Given the description of an element on the screen output the (x, y) to click on. 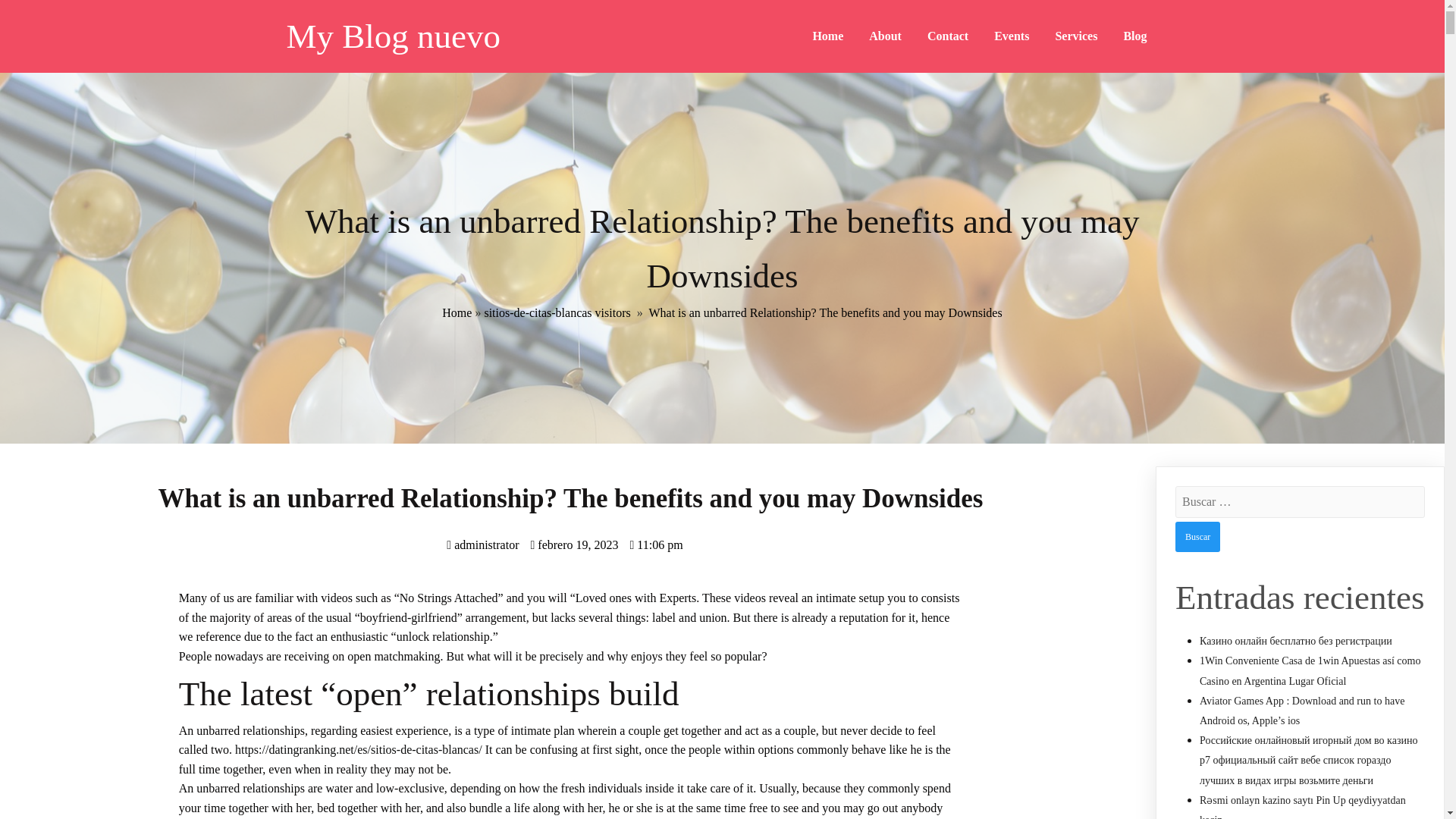
Home (827, 36)
administrator (482, 544)
Events (1011, 36)
Buscar (1197, 536)
Home (456, 312)
About (884, 36)
11:06 pm (655, 544)
febrero 19, 2023 (573, 544)
My Blog nuevo (456, 36)
Contact (947, 36)
Services (1075, 36)
Buscar (1197, 536)
Buscar (1197, 536)
sitios-de-citas-blancas visitors (556, 312)
